Given the description of an element on the screen output the (x, y) to click on. 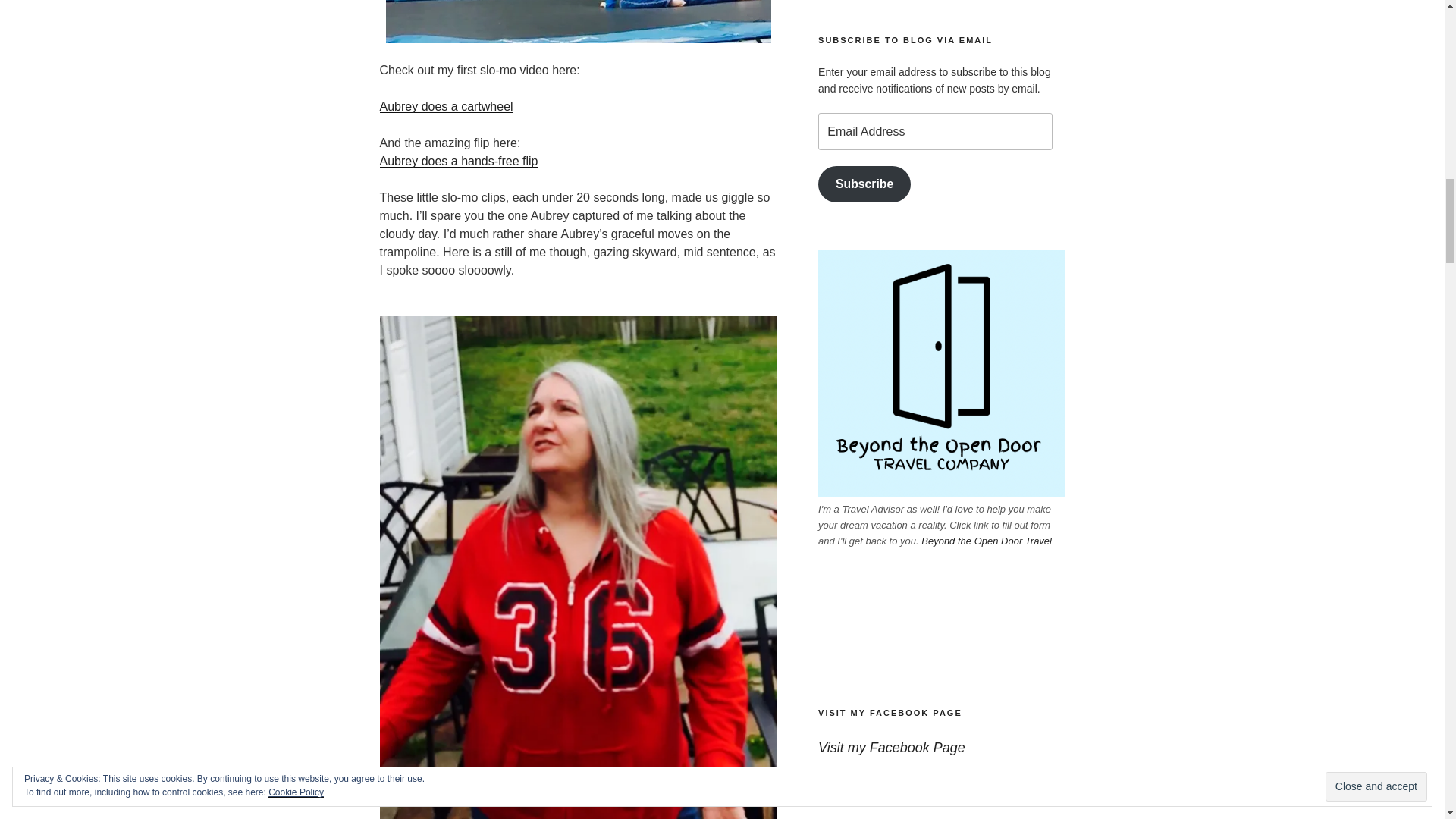
VISIT MY FACEBOOK PAGE (890, 712)
Subscribe (864, 184)
Aubrey does a cartwheel (445, 106)
Aubrey does a hands-free flip (457, 160)
Visit my Facebook Page (891, 747)
Beyond the Open Door Travel (986, 541)
